Given the description of an element on the screen output the (x, y) to click on. 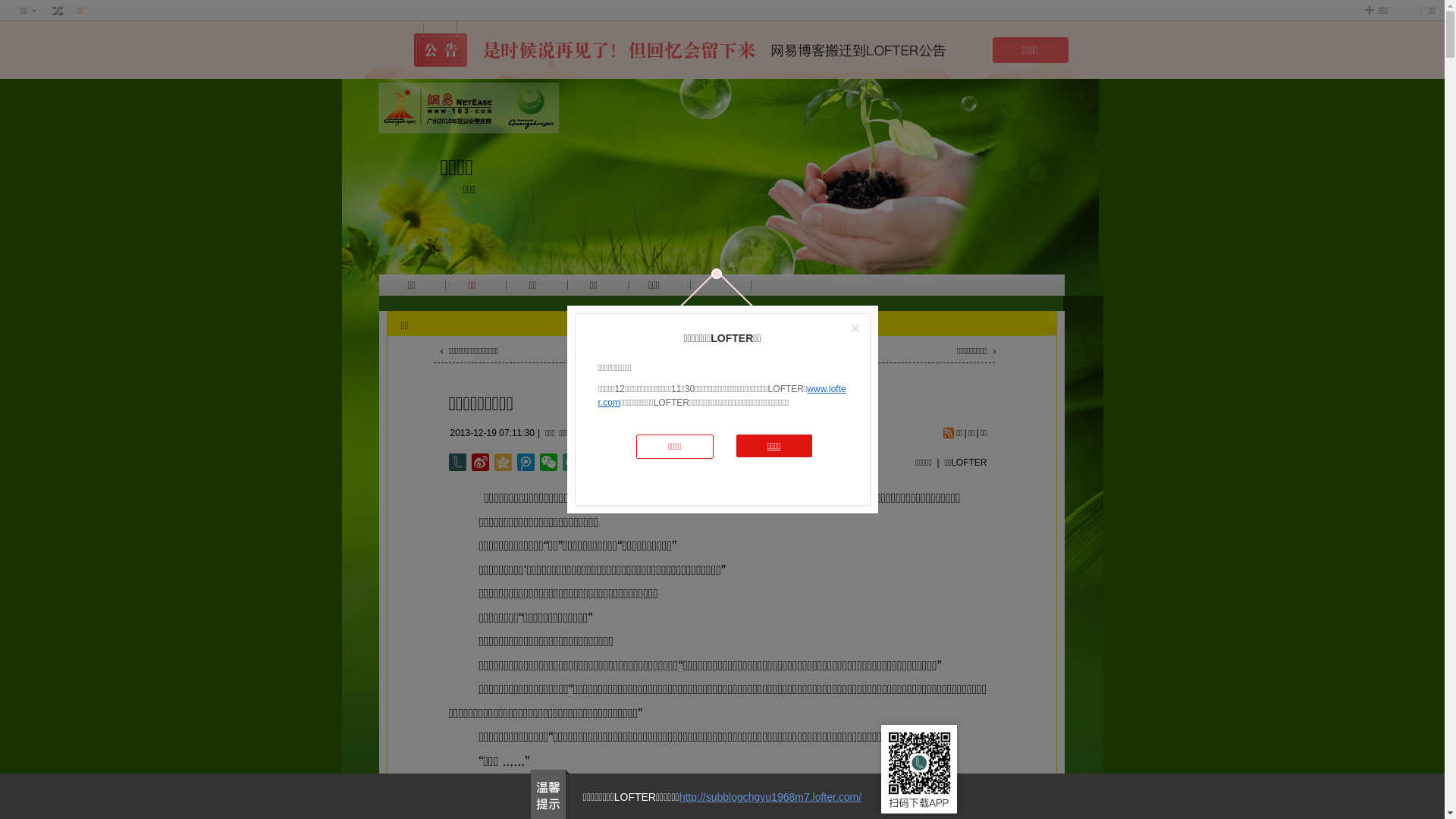
http://subblogchgyu1968m7.lofter.com/ Element type: text (770, 796)
www.lofter.com Element type: text (721, 395)
  Element type: text (58, 10)
